Given the description of an element on the screen output the (x, y) to click on. 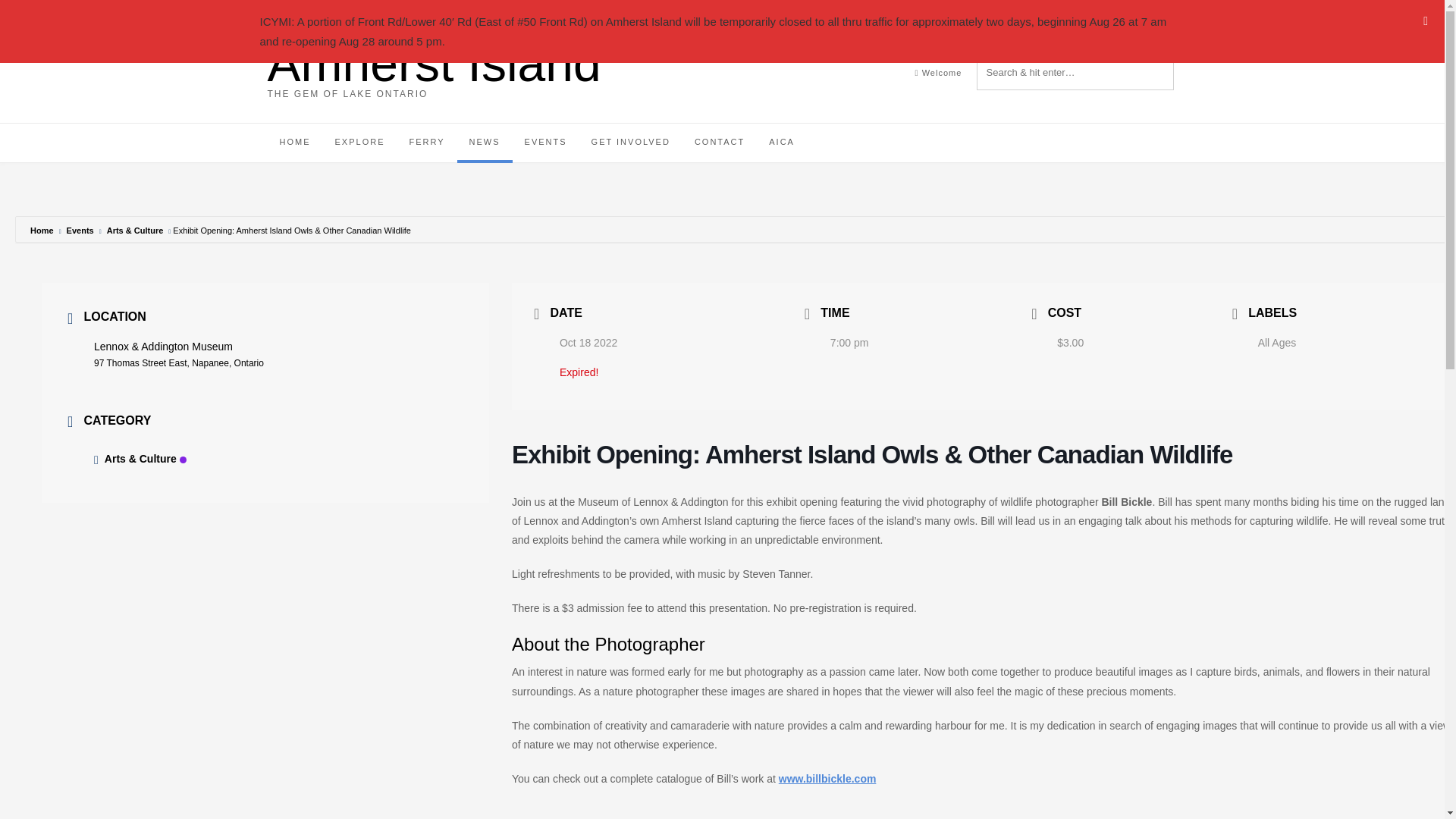
EXPLORE (360, 142)
Amherst Island (432, 63)
Amherst Island (432, 63)
VISITORS (1000, 13)
BUSINESSES (1063, 13)
FERRY (426, 142)
RESIDENTS (938, 13)
HOME (293, 142)
NEWS (484, 142)
